Given the description of an element on the screen output the (x, y) to click on. 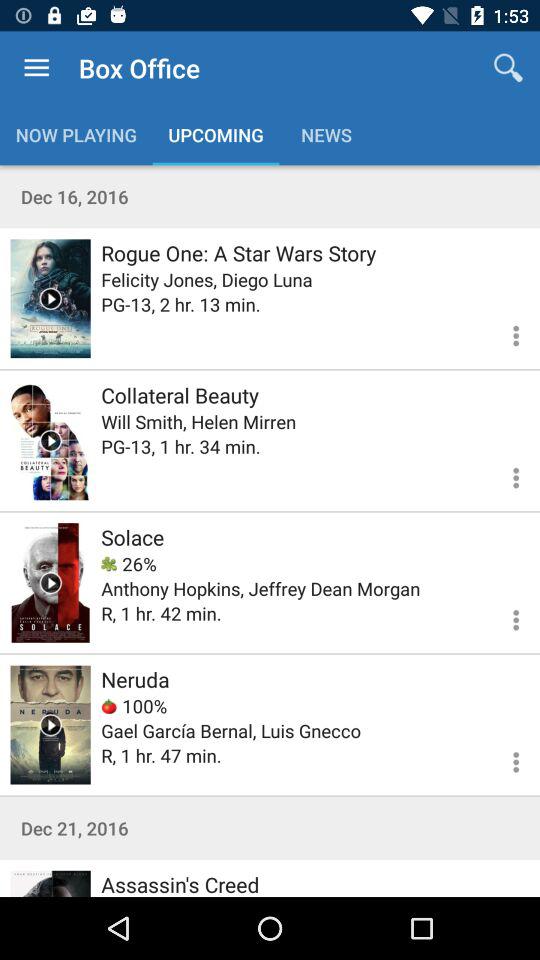
launch the icon next to the box office icon (508, 67)
